Given the description of an element on the screen output the (x, y) to click on. 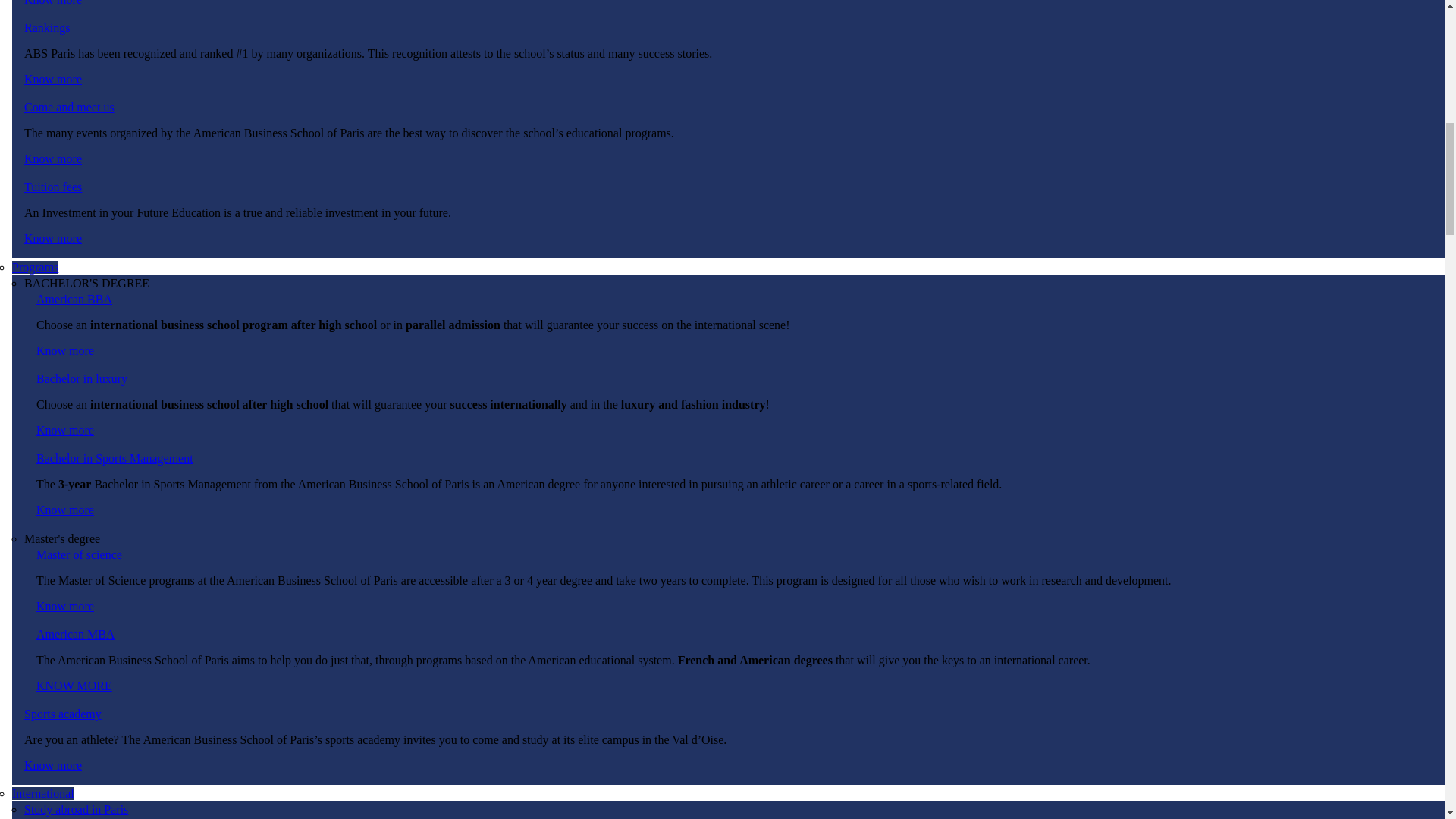
Know more (65, 350)
Tuition fees (52, 186)
Master of science (65, 605)
Know more (65, 605)
American MBA (74, 685)
American BBA (74, 298)
Know more (52, 2)
Rankings (46, 27)
TUITION FEES (52, 237)
Bachelor of Business Administration BBA (65, 350)
